Given the description of an element on the screen output the (x, y) to click on. 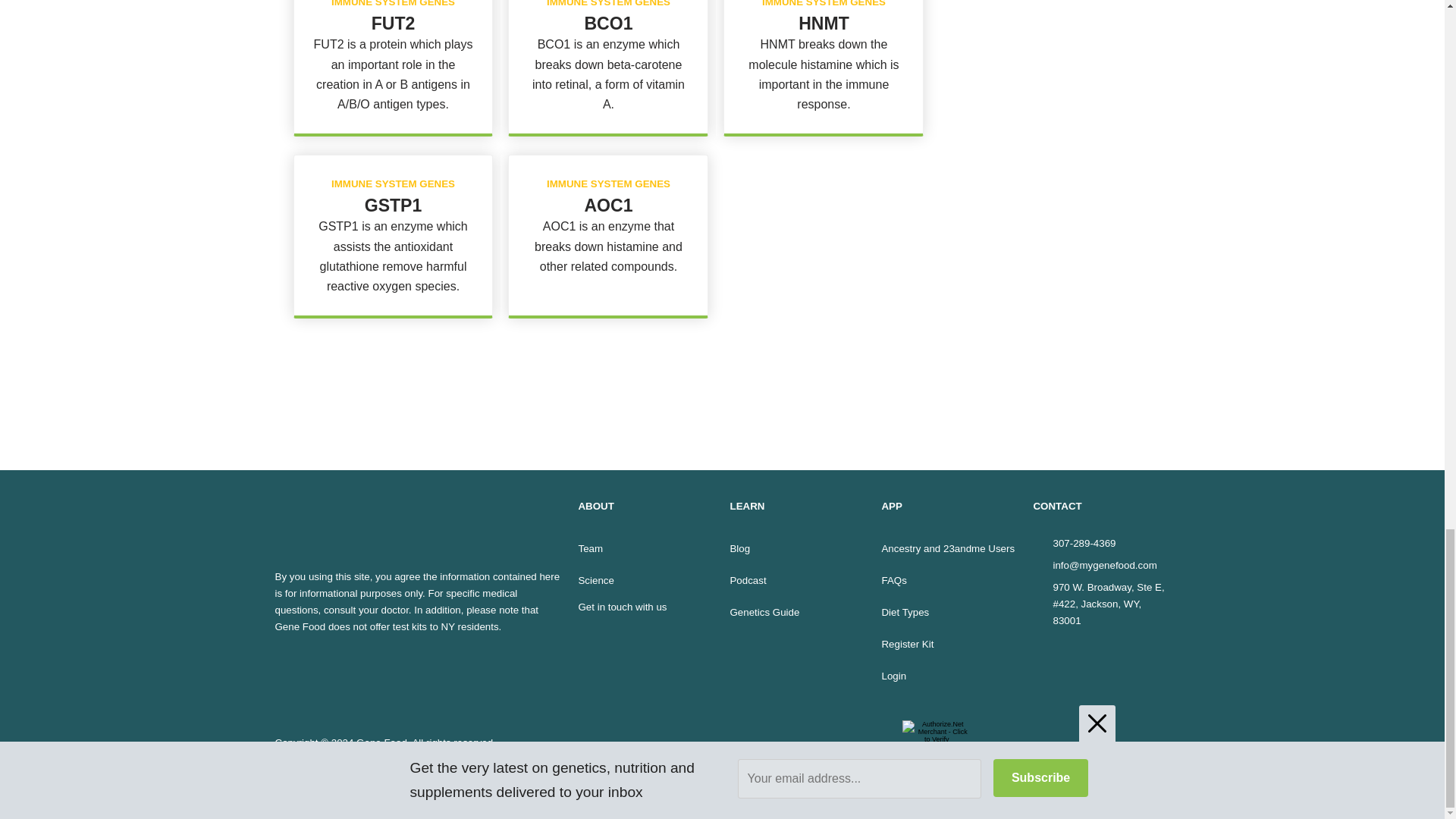
YouTube (373, 672)
Instagram (345, 672)
Facebook (288, 672)
Twitter (316, 672)
